Given the description of an element on the screen output the (x, y) to click on. 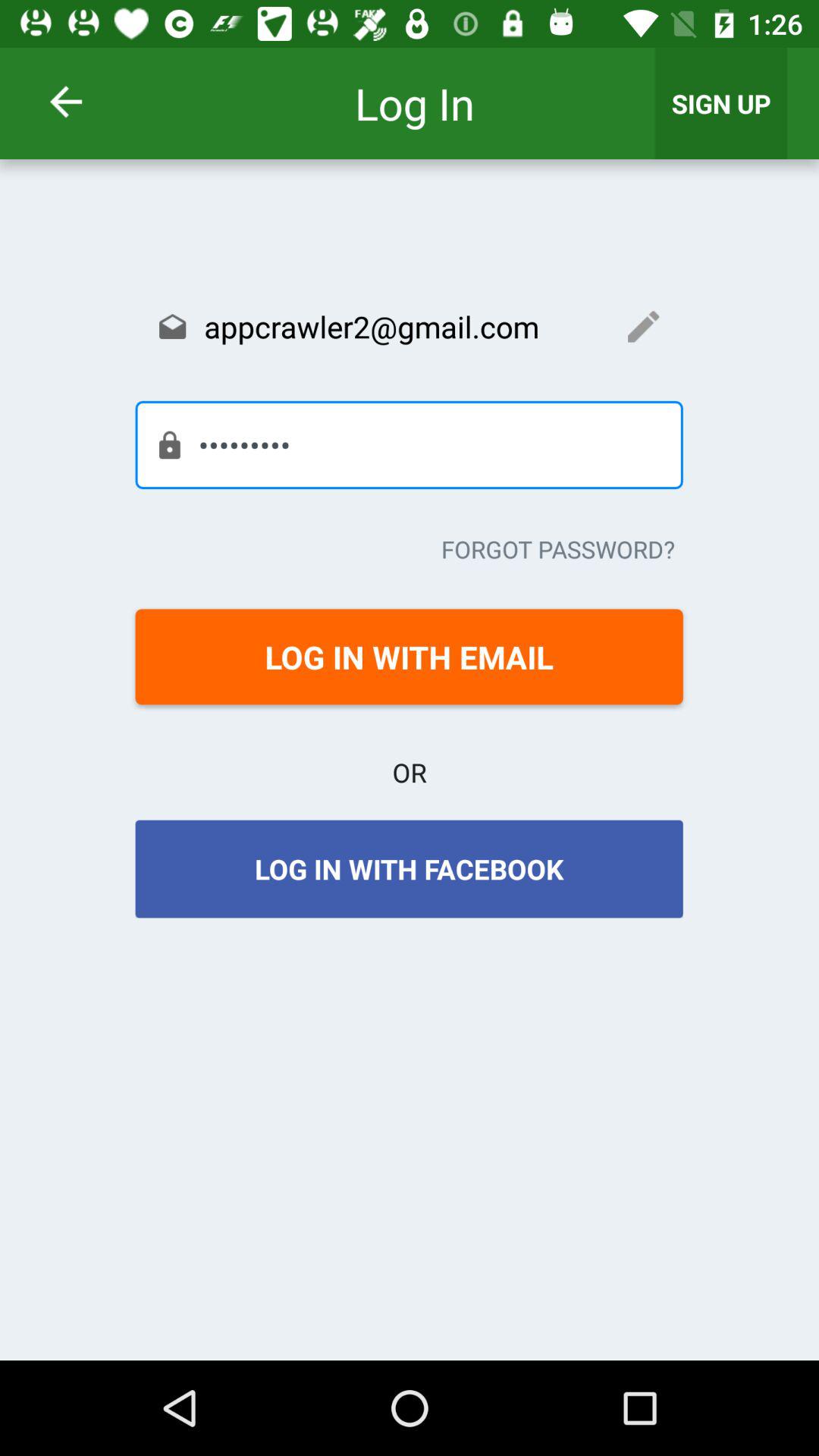
click the icon below the log in icon (409, 326)
